Given the description of an element on the screen output the (x, y) to click on. 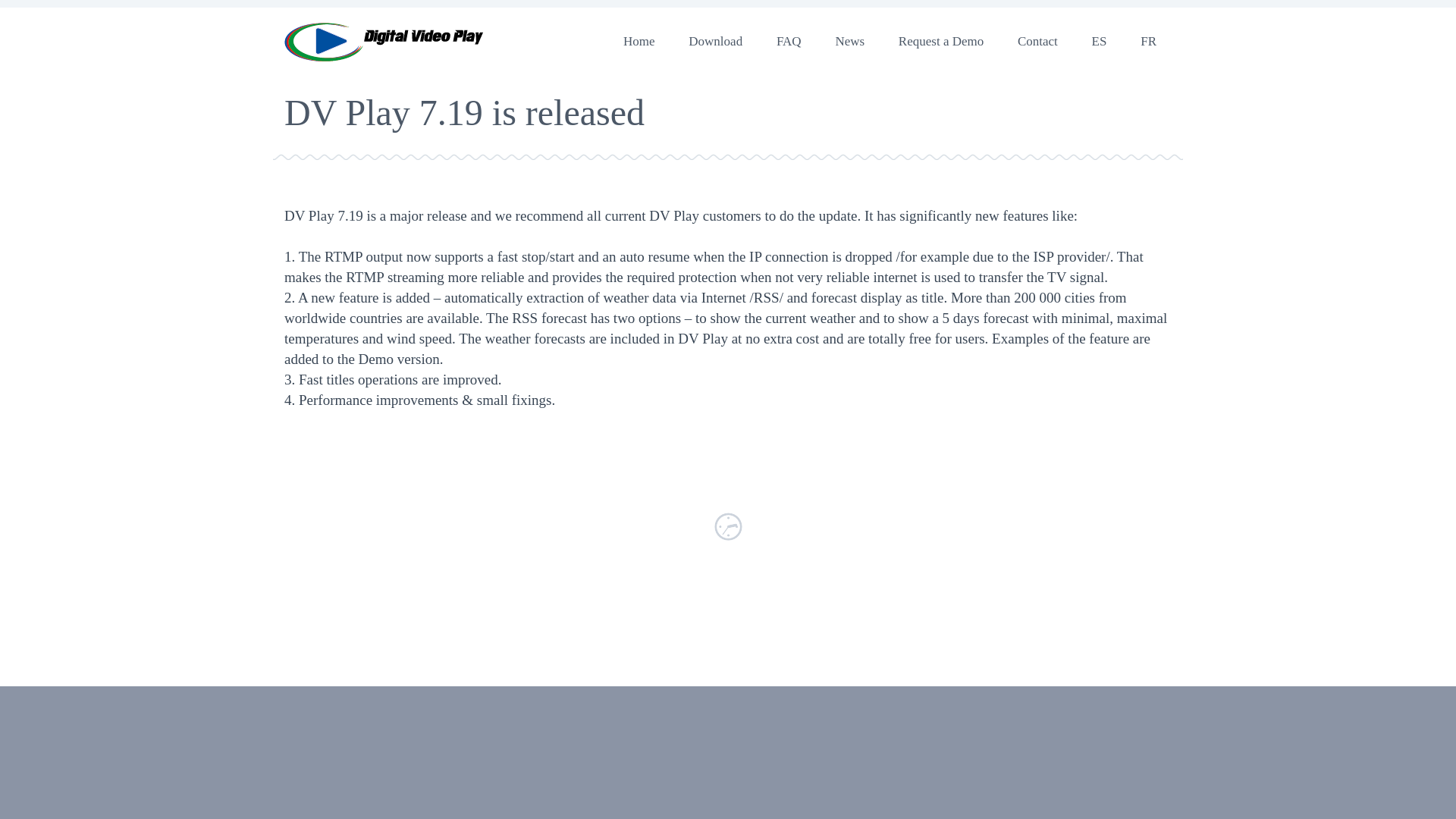
Contact (1038, 41)
Home (638, 41)
Request a Demo (940, 41)
Download (714, 41)
